Given the description of an element on the screen output the (x, y) to click on. 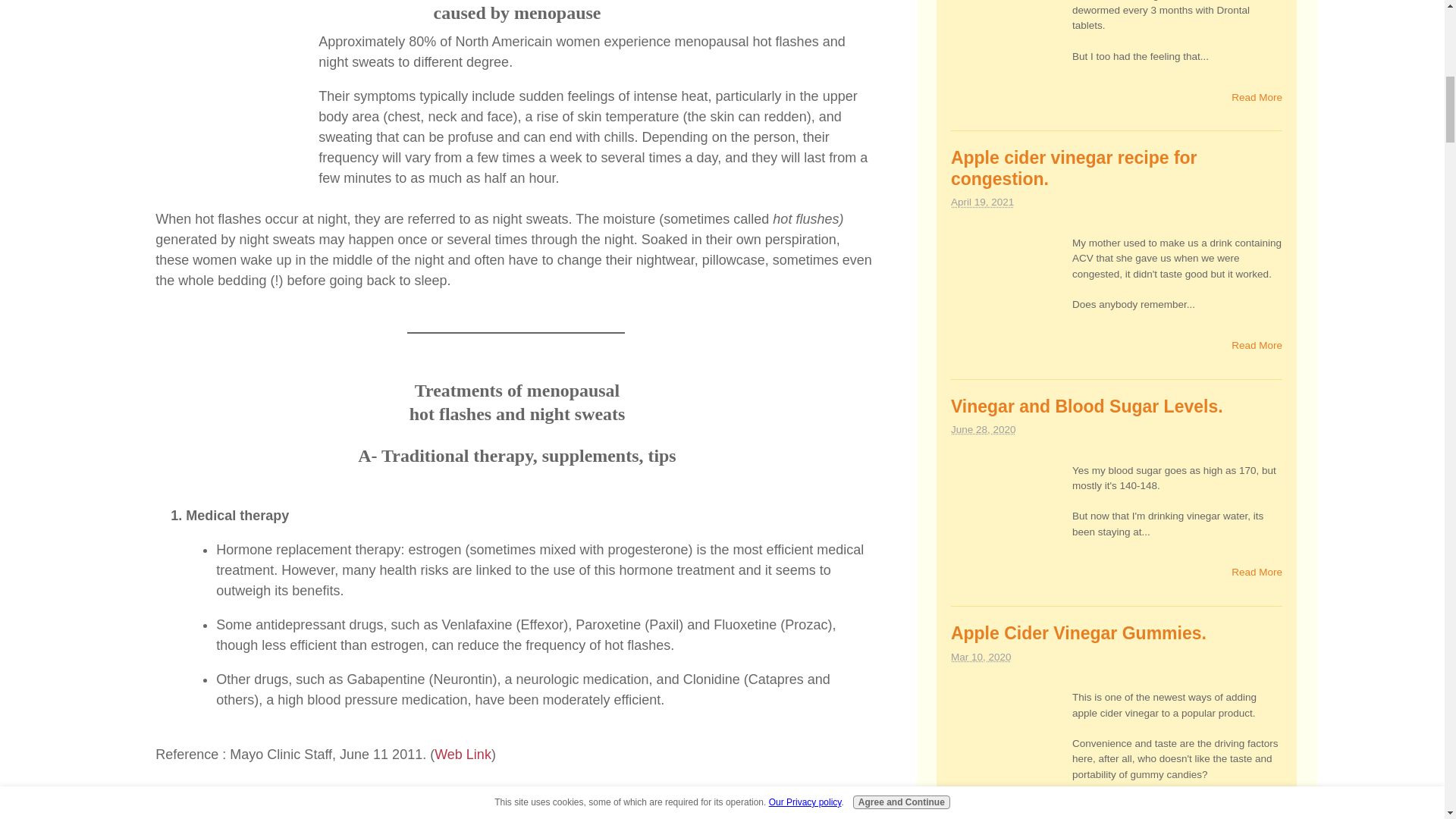
2020-06-28 (983, 429)
ACV for colds and congestion (1007, 292)
ACV for intestinal parasites (1007, 43)
2020-03-10 (980, 656)
2021-04198 (981, 202)
Web Link (462, 754)
ACV and Gummies (1007, 746)
ACV and Blood Sugar Levels (1007, 520)
